Given the description of an element on the screen output the (x, y) to click on. 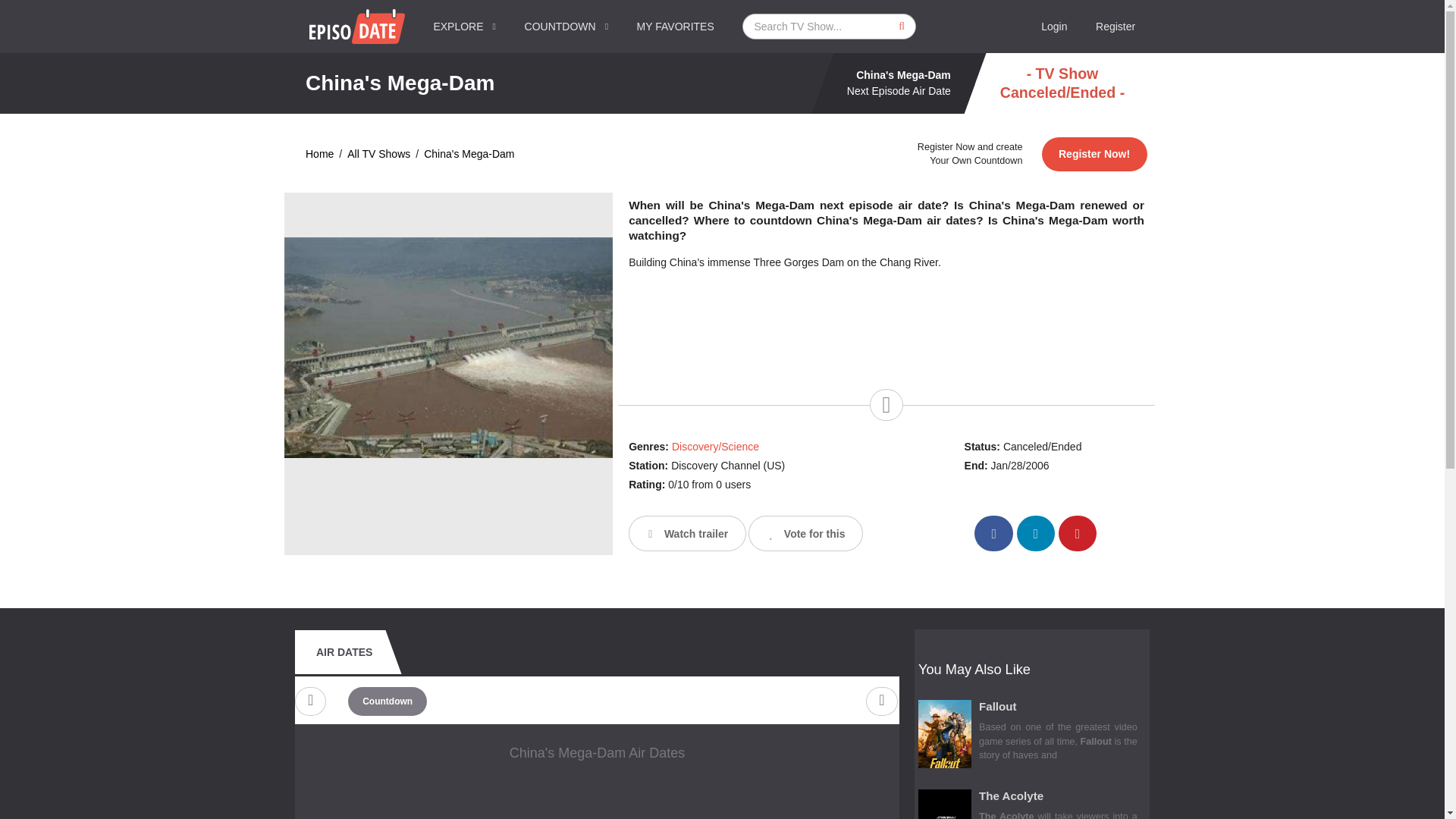
Watch trailer (686, 533)
Register Now! (1094, 154)
China's Mega-Dam (468, 154)
Countdown (386, 701)
MY FAVORITES (676, 26)
Vote for this (805, 533)
All TV Shows (378, 154)
Login (1053, 26)
AIR DATES (344, 651)
Register (1115, 26)
Home (319, 154)
